Given the description of an element on the screen output the (x, y) to click on. 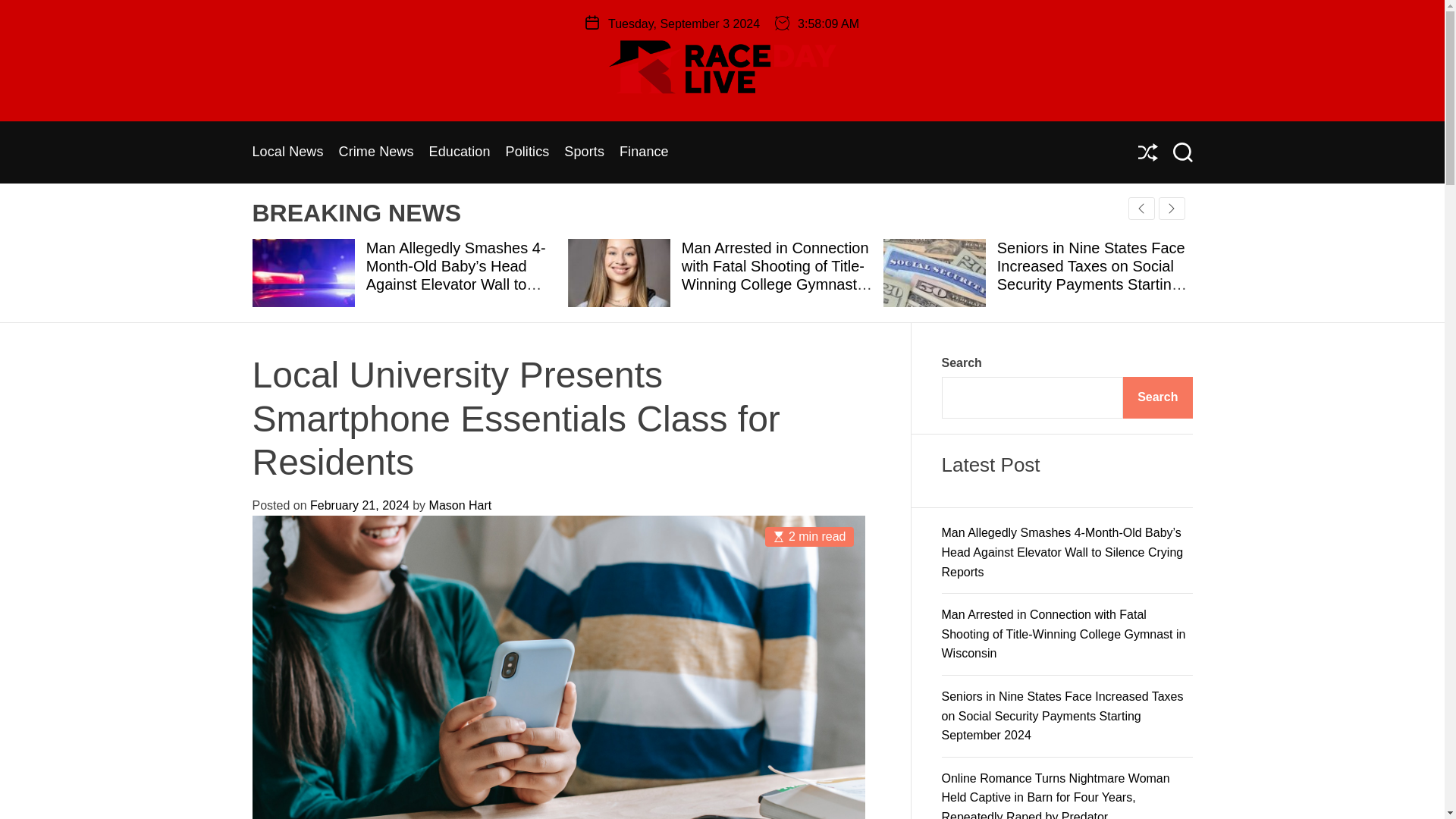
Finance (644, 152)
Search (1182, 152)
Crime News (376, 152)
Politics (527, 152)
Sports (584, 152)
February 21, 2024 (359, 504)
Mason Hart (460, 504)
Shuffle (1147, 152)
Local News (287, 152)
